Given the description of an element on the screen output the (x, y) to click on. 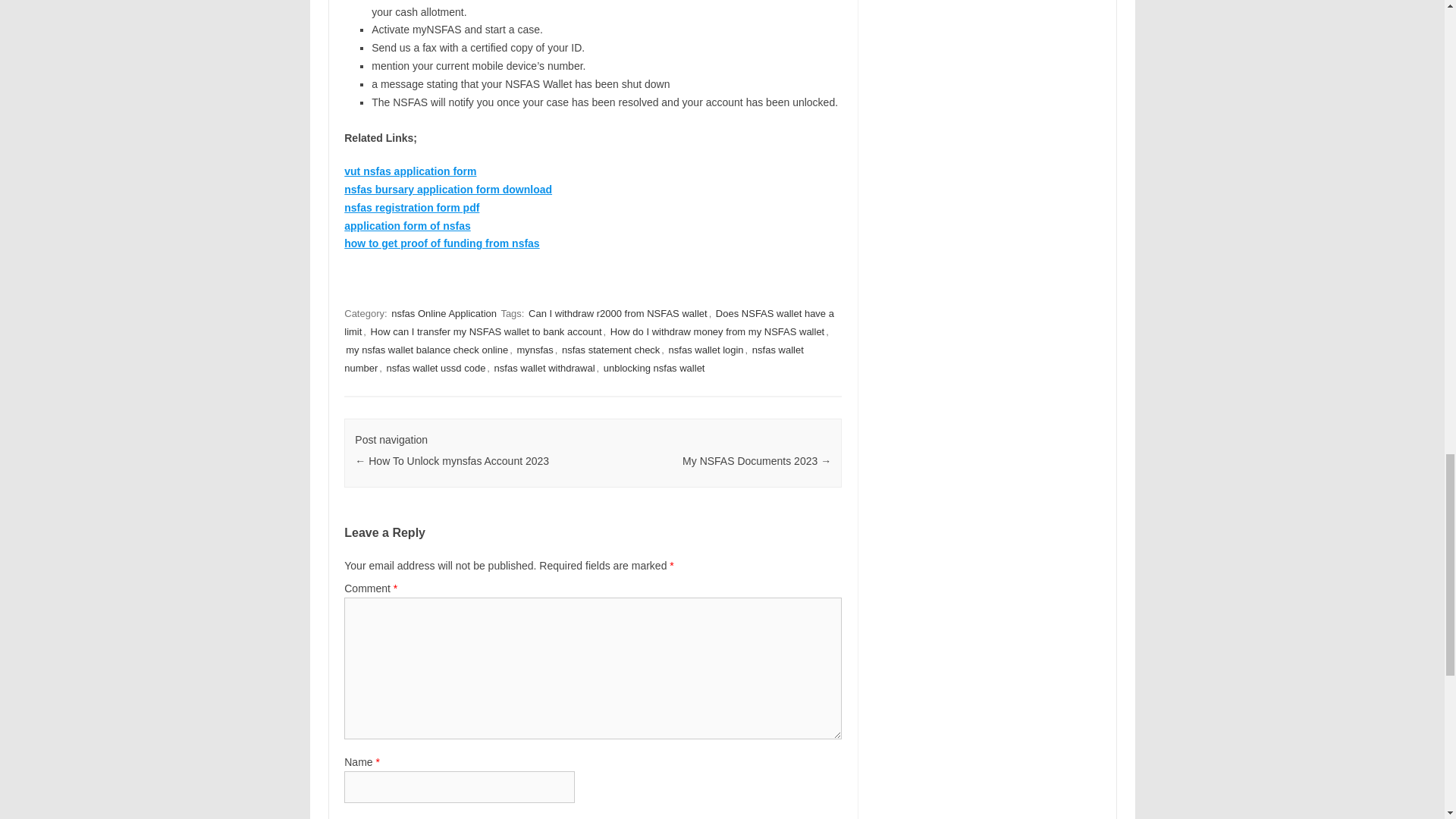
application form of nsfas (406, 225)
nsfas wallet number (573, 359)
vut nsfas application form (409, 171)
How can I transfer my NSFAS wallet to bank account (486, 331)
nsfas Online Application (443, 313)
nsfas bursary application form download (447, 189)
mynsfas (534, 350)
nsfas statement check (610, 350)
Can I withdraw r2000 from NSFAS wallet (618, 313)
unblocking nsfas wallet (654, 368)
How do I withdraw money from my NSFAS wallet (716, 331)
how to get proof of funding from nsfas (440, 243)
my nsfas wallet balance check online (426, 350)
nsfas wallet login (705, 350)
Does NSFAS wallet have a limit (588, 322)
